Given the description of an element on the screen output the (x, y) to click on. 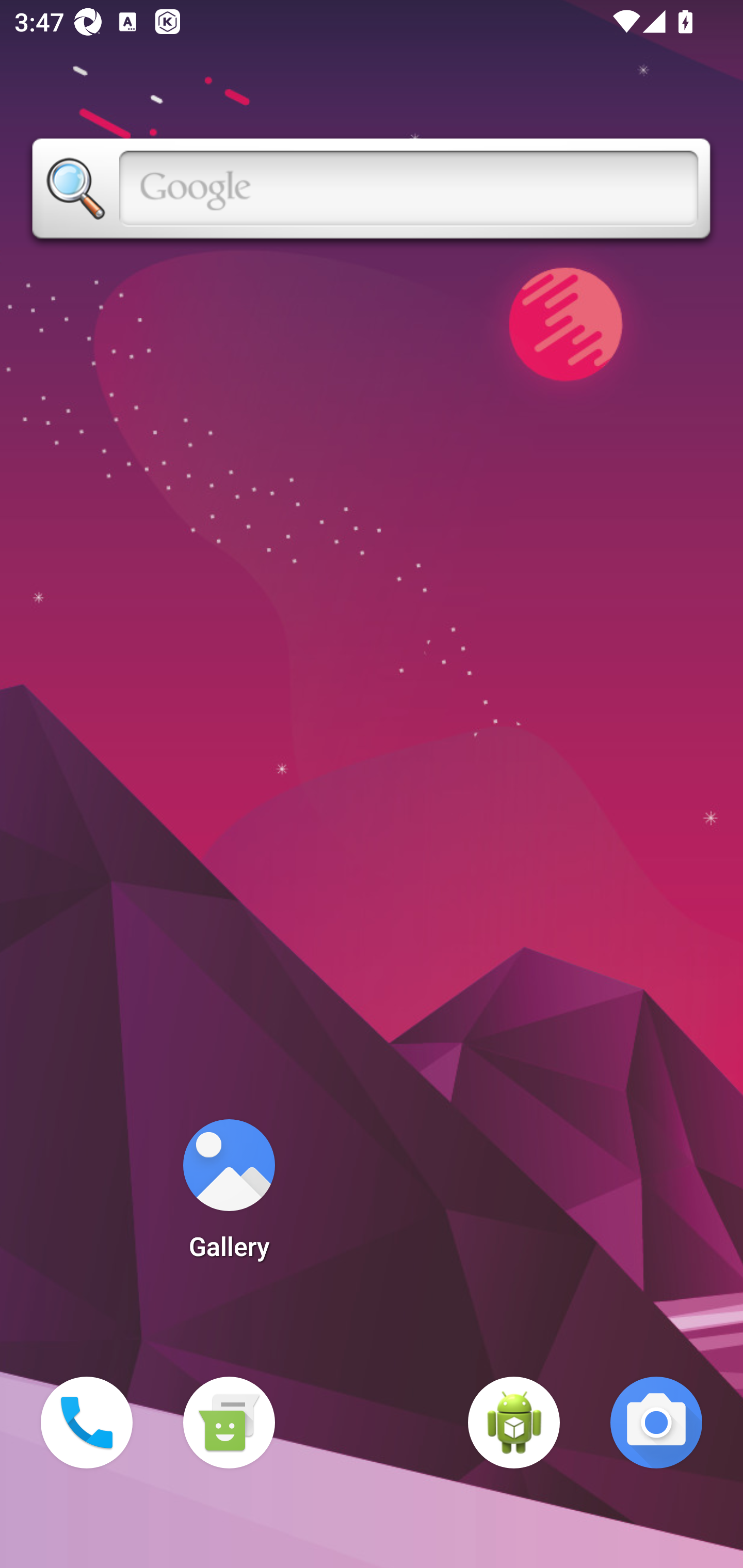
Gallery (228, 1195)
Phone (86, 1422)
Messaging (228, 1422)
WebView Browser Tester (513, 1422)
Camera (656, 1422)
